Given the description of an element on the screen output the (x, y) to click on. 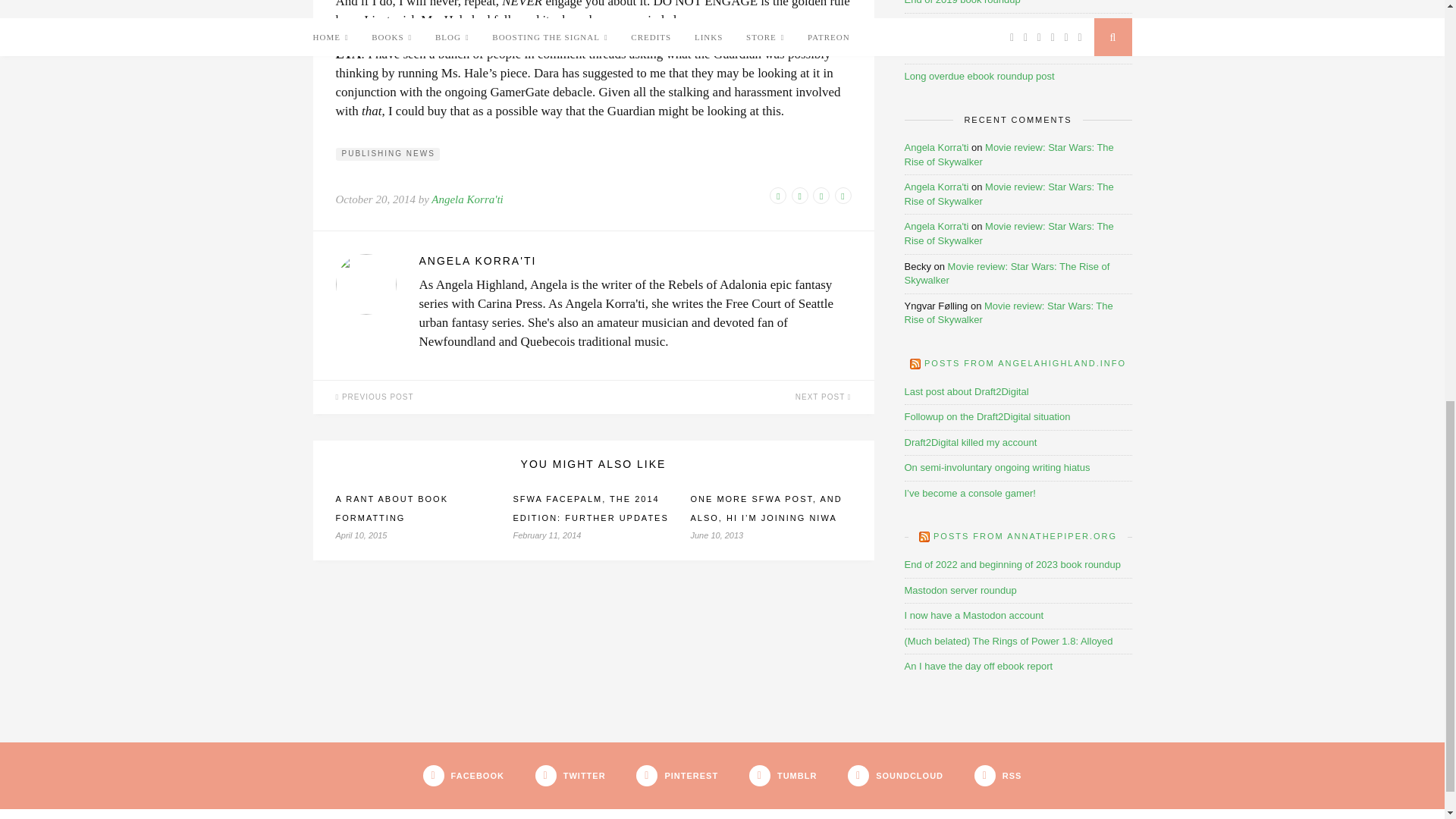
Posts by Angela Korra'ti (634, 261)
Posts by Angela Korra'ti (466, 199)
